Given the description of an element on the screen output the (x, y) to click on. 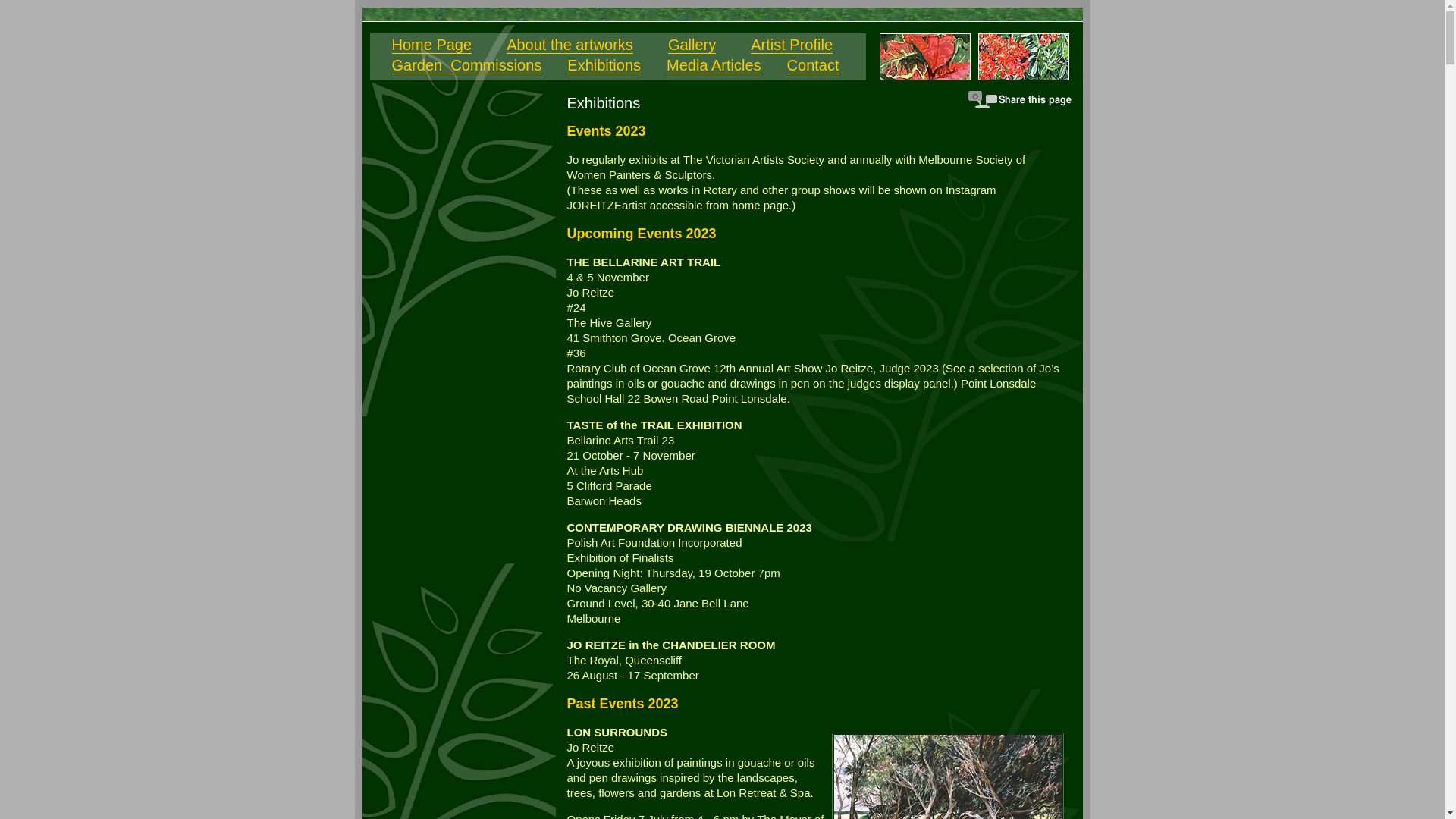
Jo Reitze - Paints Your Garden Element type: text (460, 245)
Contact Element type: text (813, 65)
share this page Element type: text (1019, 99)
Media Articles Element type: text (713, 65)
Gallery Element type: text (691, 44)
About the artworks Element type: text (569, 44)
Garden  Commissions Element type: text (466, 65)
Home Page Element type: text (431, 44)
Artist Profile Element type: text (791, 44)
Exhibitions Element type: text (603, 65)
